Given the description of an element on the screen output the (x, y) to click on. 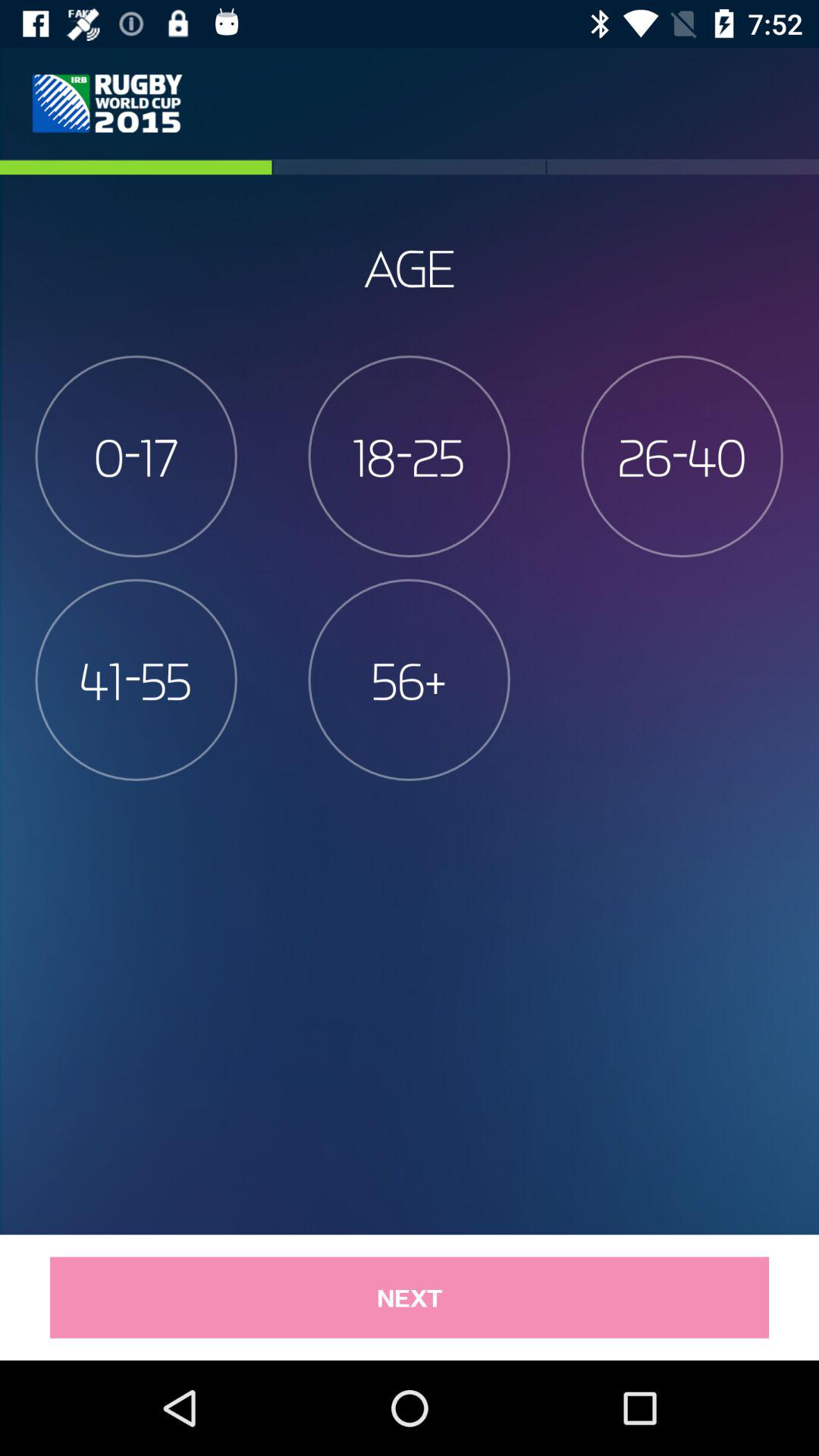
choose item below 41-55 item (409, 1297)
